Given the description of an element on the screen output the (x, y) to click on. 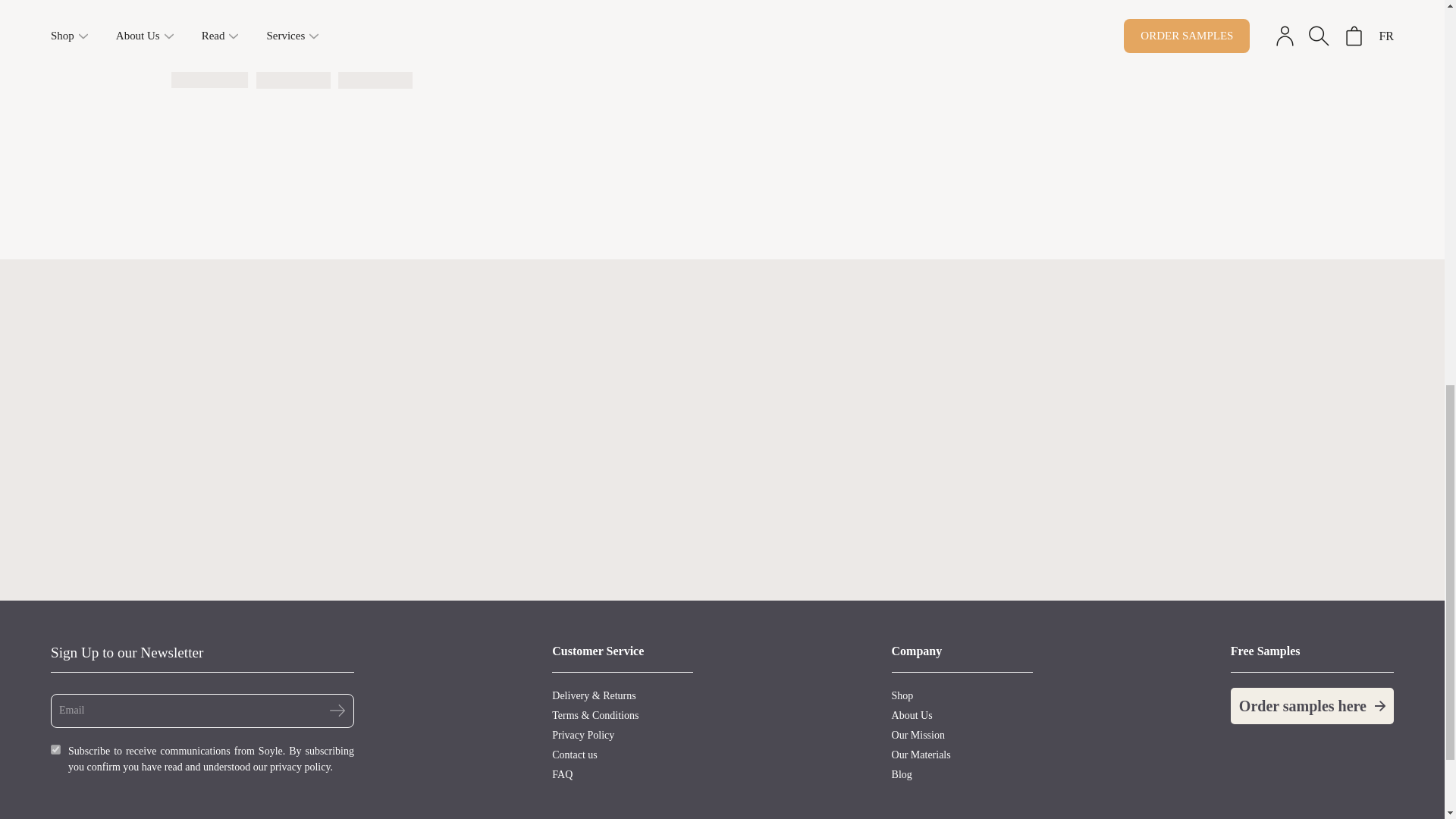
on (55, 749)
